Given the description of an element on the screen output the (x, y) to click on. 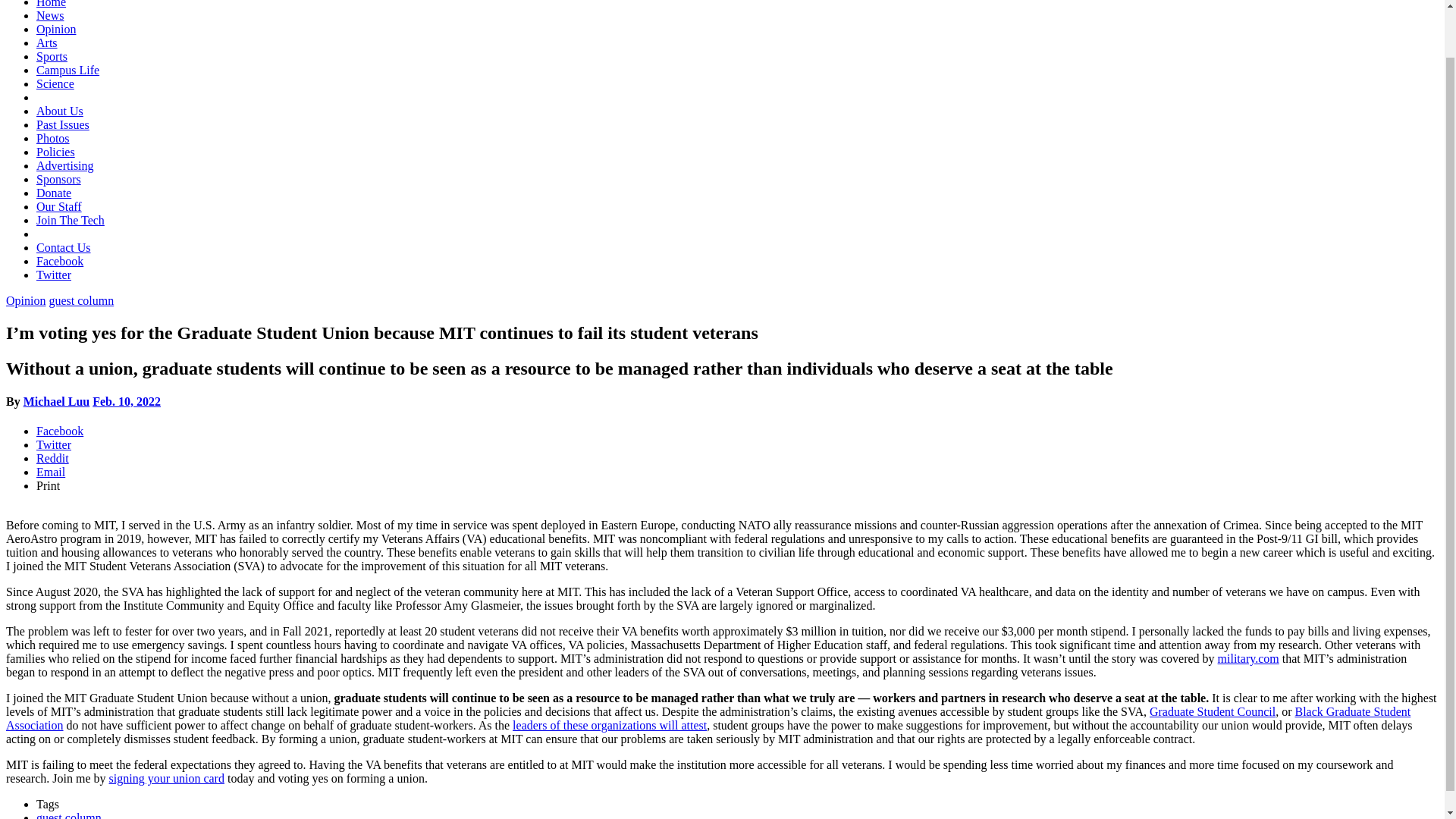
Science (55, 83)
Home (50, 4)
Michael Luu (56, 400)
Facebook (59, 431)
Donate (53, 192)
Sports (51, 56)
Past Issues (62, 124)
Sponsors (58, 178)
Reddit (52, 458)
Our Staff (58, 205)
Arts (47, 42)
Email (50, 472)
Opinion (25, 300)
Graduate Student Council (1212, 711)
Campus Life (67, 69)
